Given the description of an element on the screen output the (x, y) to click on. 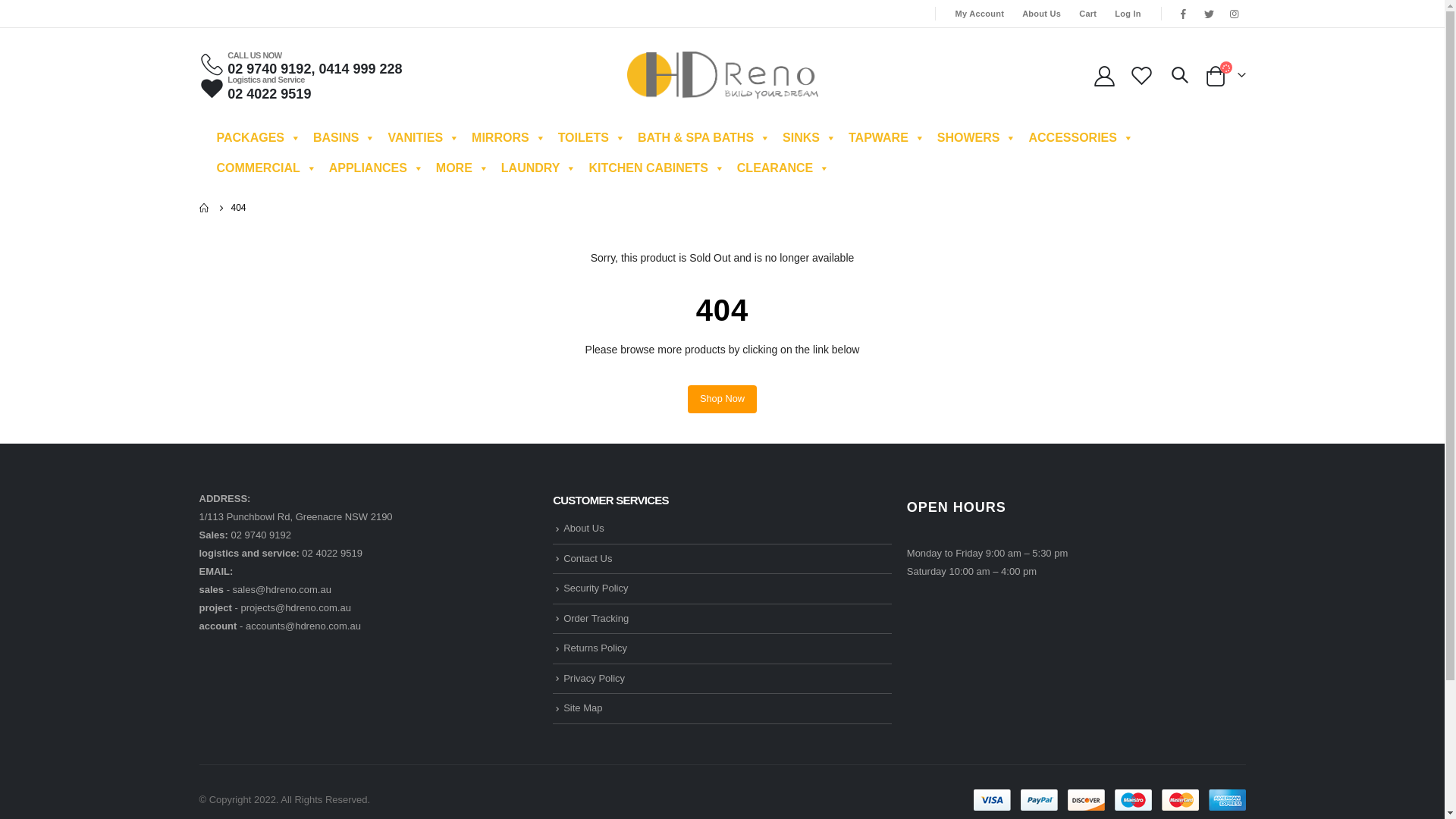
PACKAGES Element type: text (258, 137)
About Us Element type: text (583, 527)
TAPWARE Element type: text (886, 137)
VANITIES Element type: text (423, 137)
02 9740 9192 Element type: text (260, 534)
Facebook Element type: hover (1183, 13)
Wishlist Element type: hover (1141, 75)
Security Policy Element type: text (595, 587)
accounts@hdreno.com.au Element type: text (302, 625)
APPLIANCES Element type: text (376, 168)
Order Tracking Element type: text (595, 618)
projects@hdreno.com.au Element type: text (295, 607)
Instagram Element type: hover (1234, 13)
02 4022 9519 Element type: text (331, 552)
Shop Now Element type: text (721, 399)
Contact Us Element type: text (587, 558)
1/113 Punchbowl Rd, Greenacre NSW 2190 Element type: text (295, 516)
MIRRORS Element type: text (508, 137)
Privacy Policy Element type: text (593, 678)
My Account Element type: hover (1104, 75)
Go to Home Page Element type: hover (203, 207)
TOILETS Element type: text (591, 137)
LAUNDRY Element type: text (539, 168)
Log In Element type: text (1127, 13)
SHOWERS Element type: text (976, 137)
BATH & SPA BATHS Element type: text (703, 137)
Twitter Element type: hover (1208, 13)
Cart Element type: text (1087, 13)
COMMERCIAL Element type: text (266, 168)
Returns Policy Element type: text (595, 647)
MORE Element type: text (462, 168)
My Account Element type: text (979, 13)
About Us Element type: text (1041, 13)
ACCESSORIES Element type: text (1080, 137)
SINKS Element type: text (809, 137)
KITCHEN CABINETS Element type: text (656, 168)
sales@hdreno.com.au Element type: text (281, 589)
Site Map Element type: text (582, 707)
CLEARANCE Element type: text (783, 168)
BASINS Element type: text (344, 137)
